Given the description of an element on the screen output the (x, y) to click on. 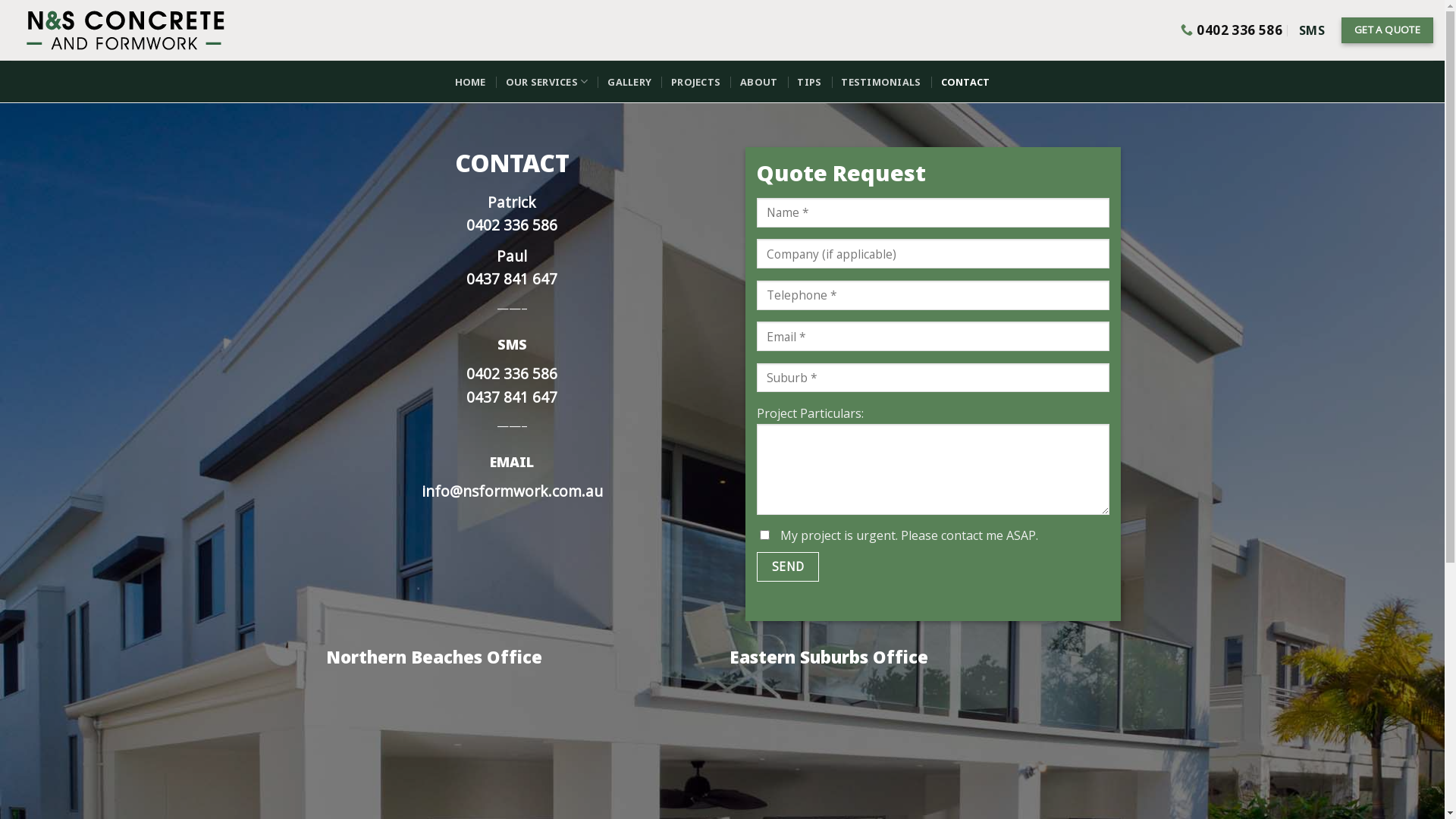
Send Element type: text (787, 566)
0437 841 647 Element type: text (511, 278)
0402 336 586 Element type: text (1231, 29)
TESTIMONIALS Element type: text (880, 81)
PROJECTS Element type: text (695, 81)
0402 336 586 Element type: text (511, 224)
CONTACT Element type: text (964, 81)
SMS Element type: text (1311, 29)
0402 336 586 Element type: text (511, 373)
GET A QUOTE Element type: text (1387, 30)
HOME Element type: text (470, 81)
GALLERY Element type: text (629, 81)
info@nsformwork.com.au Element type: text (511, 490)
0437 841 647 Element type: text (511, 396)
OUR SERVICES Element type: text (546, 81)
ABOUT Element type: text (758, 81)
TIPS Element type: text (809, 81)
